Given the description of an element on the screen output the (x, y) to click on. 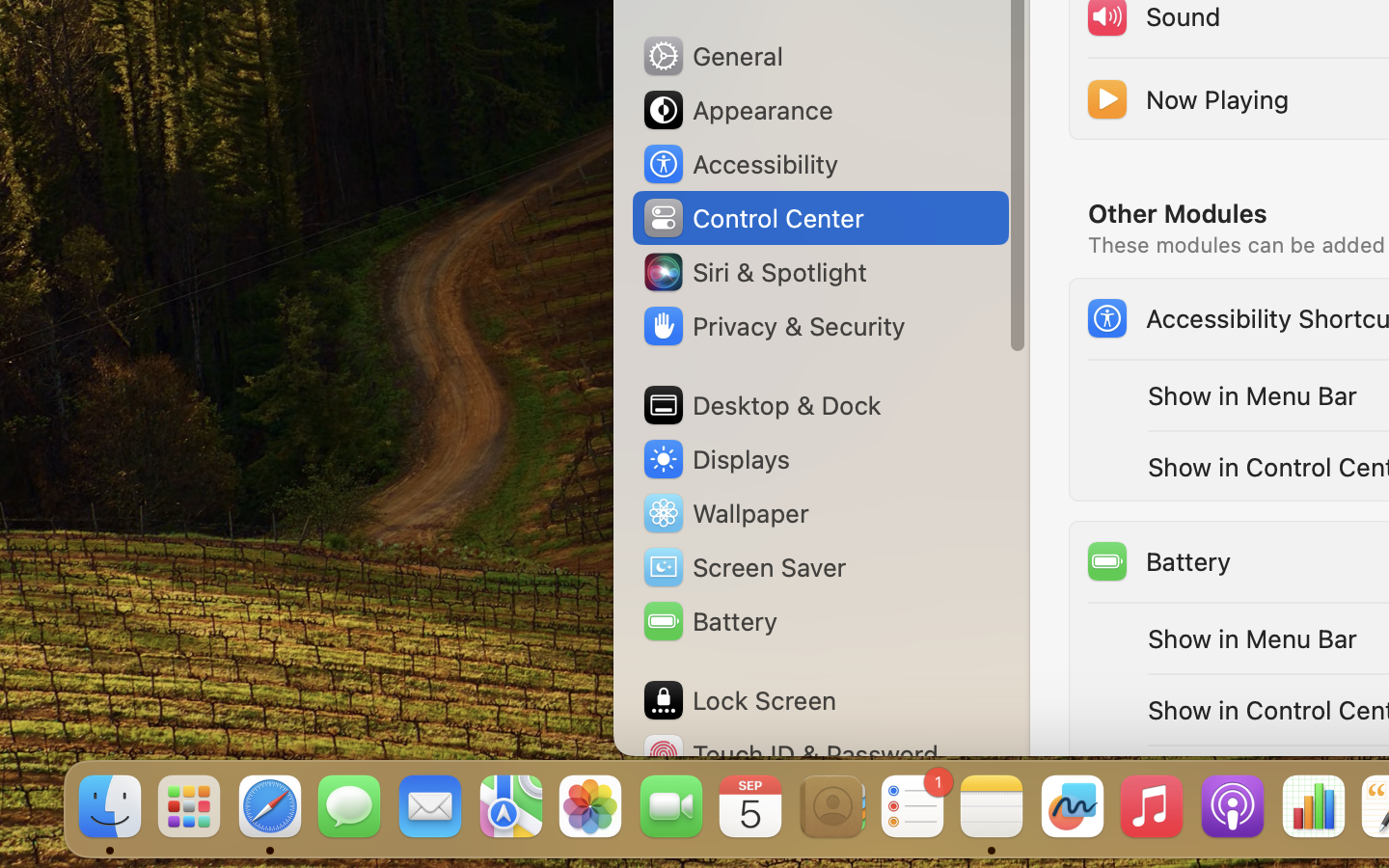
Accessibility Element type: AXStaticText (739, 163)
Battery Element type: AXStaticText (1157, 561)
Wallpaper Element type: AXStaticText (724, 512)
Lock Screen Element type: AXStaticText (738, 700)
Control Center Element type: AXStaticText (752, 217)
